Given the description of an element on the screen output the (x, y) to click on. 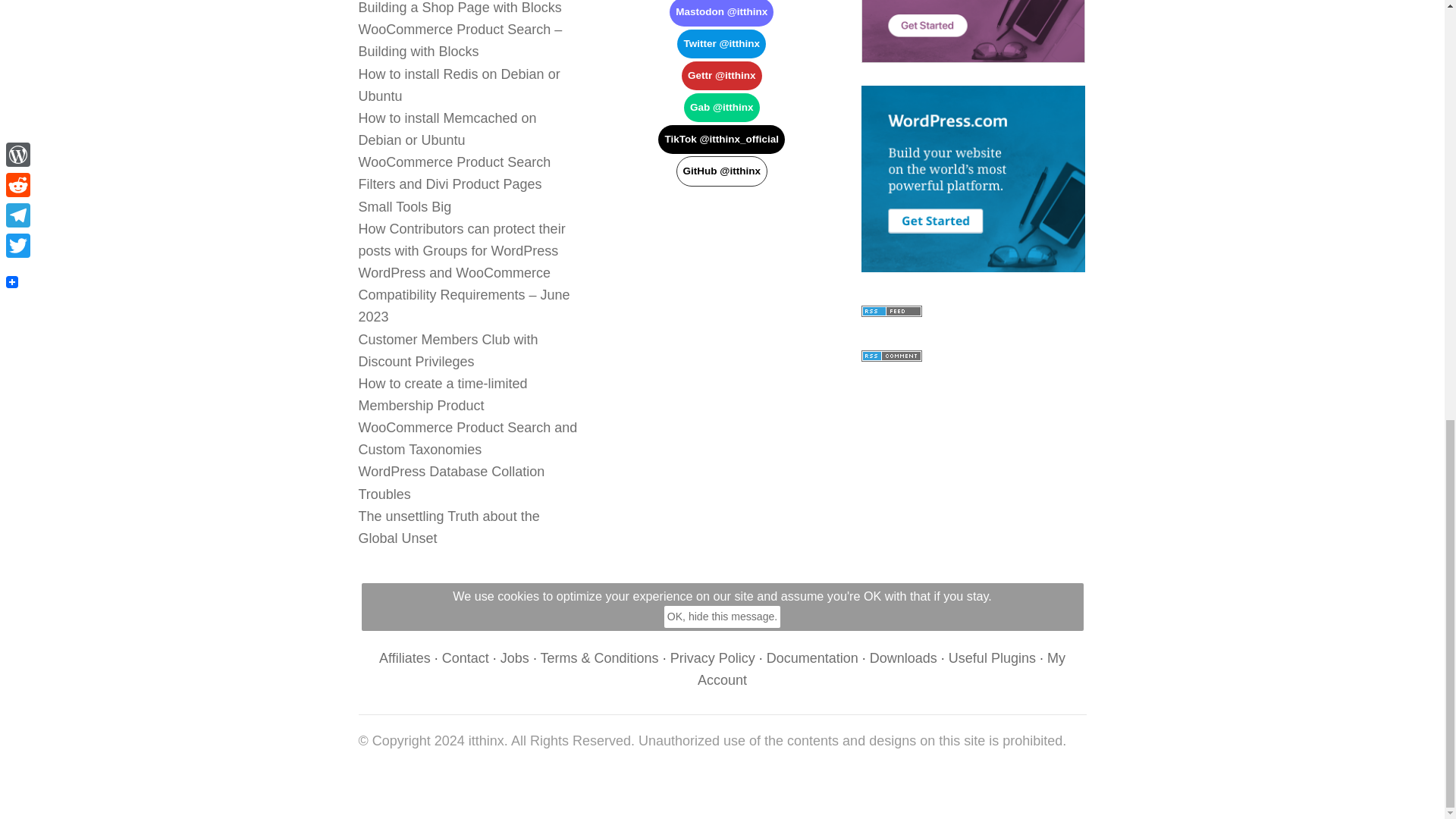
WooCommerce Product Search Filters and Divi Product Pages (454, 172)
Small Tools Big (404, 206)
How to install Memcached on Debian or Ubuntu (446, 129)
RSS feed (891, 310)
WordPress.com (972, 178)
Syndicate (891, 350)
Comments RSS feed (891, 355)
WooCommerce (972, 31)
Syndicate (891, 305)
How to install Redis on Debian or Ubuntu (458, 85)
